Given the description of an element on the screen output the (x, y) to click on. 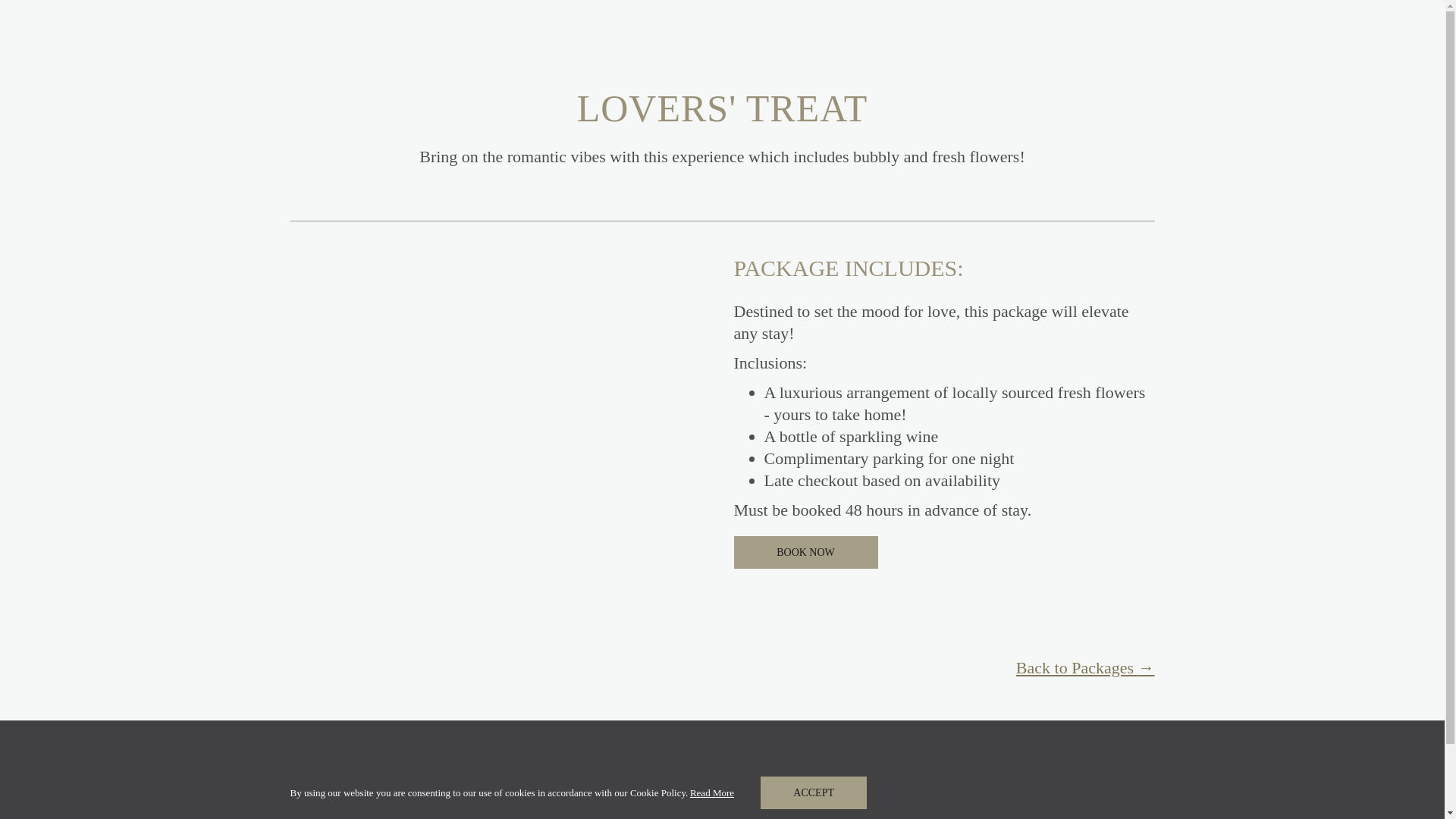
Privacy Policy (798, 791)
Back to Packages (1085, 667)
ACCEPT (805, 552)
Sustainability (813, 792)
Notice of Accessibility (983, 791)
